Given the description of an element on the screen output the (x, y) to click on. 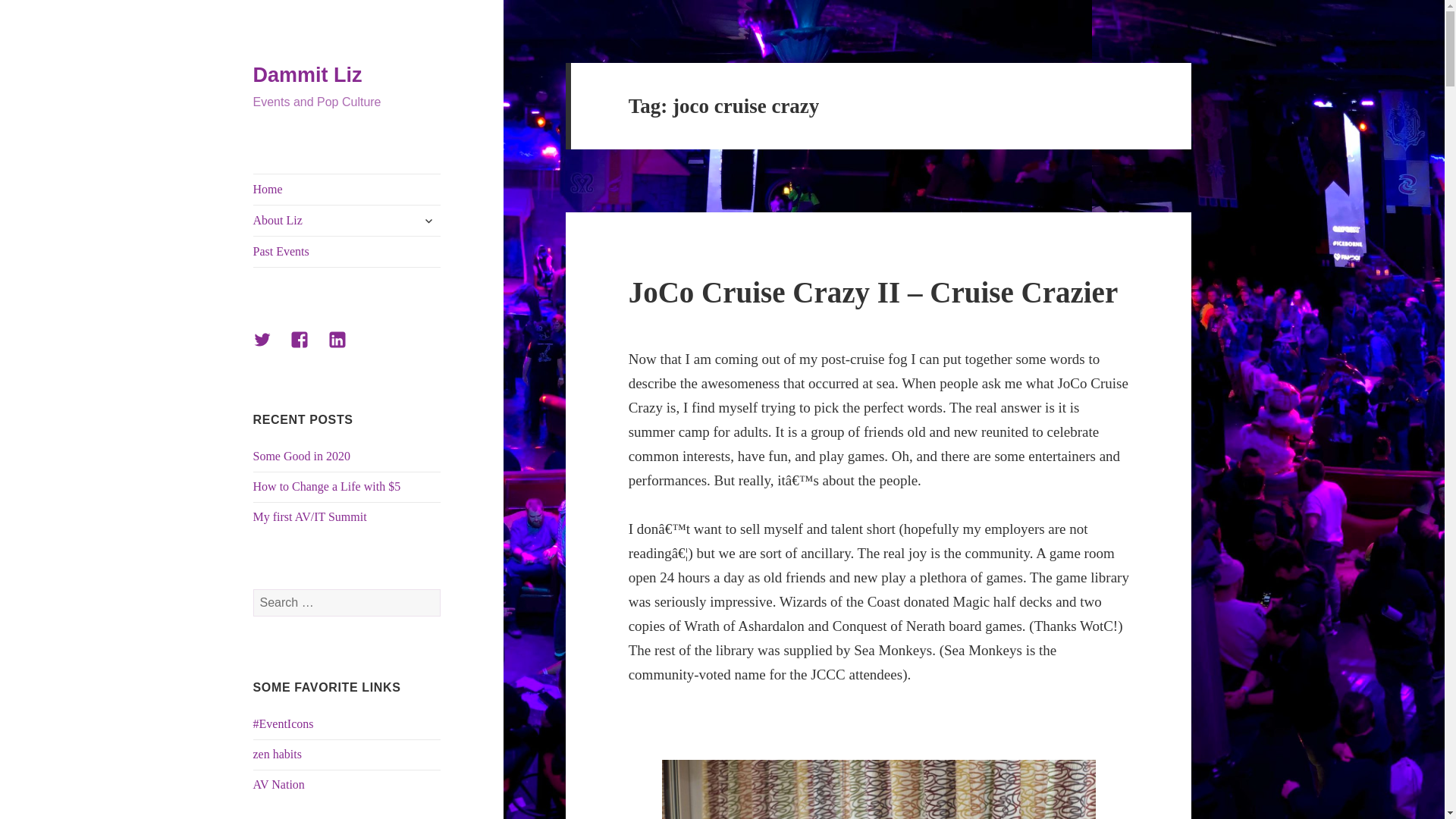
expand child menu (428, 220)
AV Nation (278, 784)
Facebook (307, 348)
Home (347, 189)
Past Events (347, 251)
LinkedIn (347, 348)
zen habits (277, 753)
Twitter (271, 348)
